Given the description of an element on the screen output the (x, y) to click on. 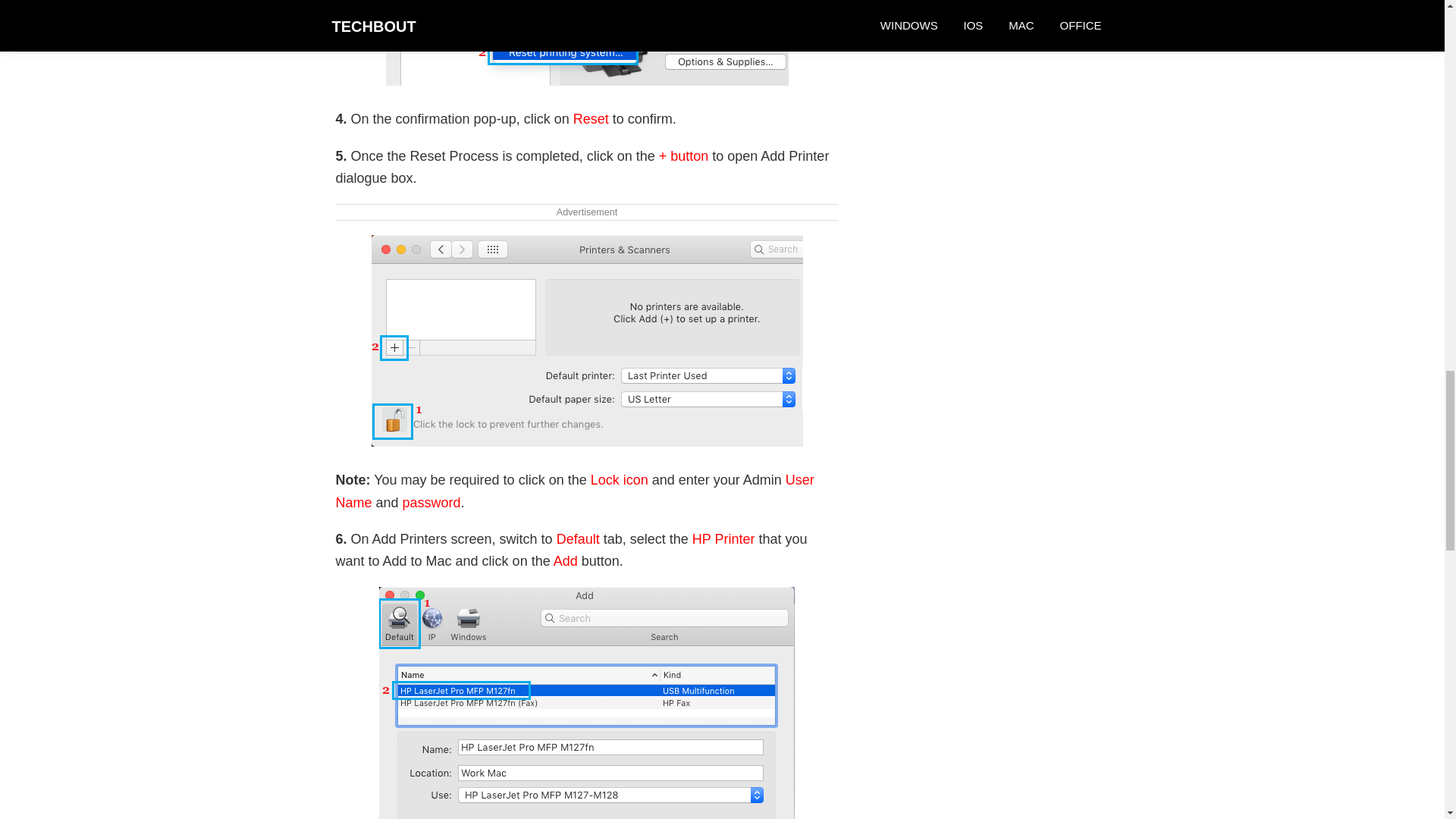
Add Printer to Mac Option (587, 340)
Add Printer to Mac (586, 703)
Reset Printing System on Mac (586, 42)
